Given the description of an element on the screen output the (x, y) to click on. 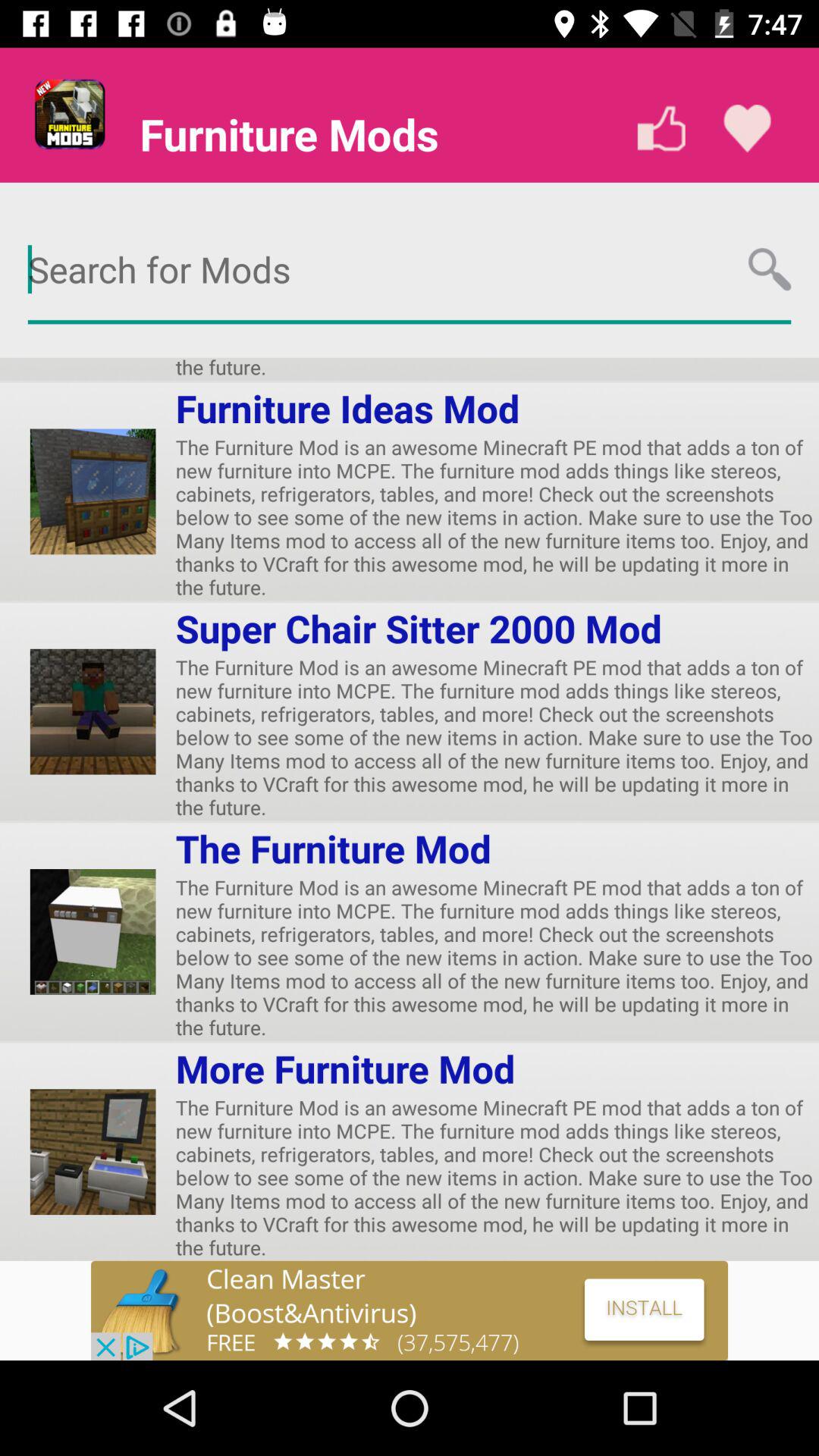
search for mods (409, 269)
